Given the description of an element on the screen output the (x, y) to click on. 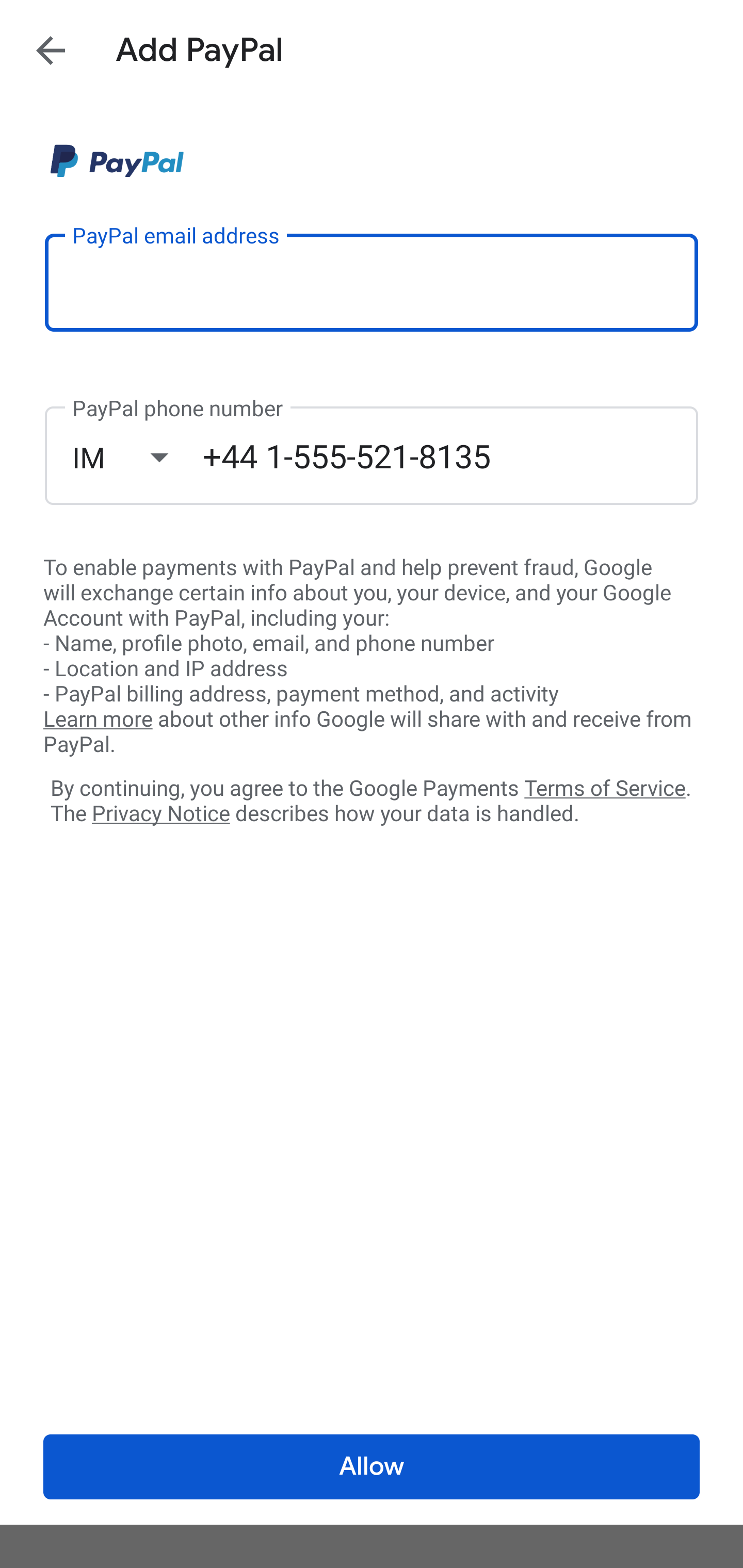
Navigate up (50, 50)
PayPal email address (371, 282)
IM (137, 456)
Learn more (97, 719)
Terms of Service (604, 787)
Privacy Notice (160, 814)
Allow (371, 1466)
